Given the description of an element on the screen output the (x, y) to click on. 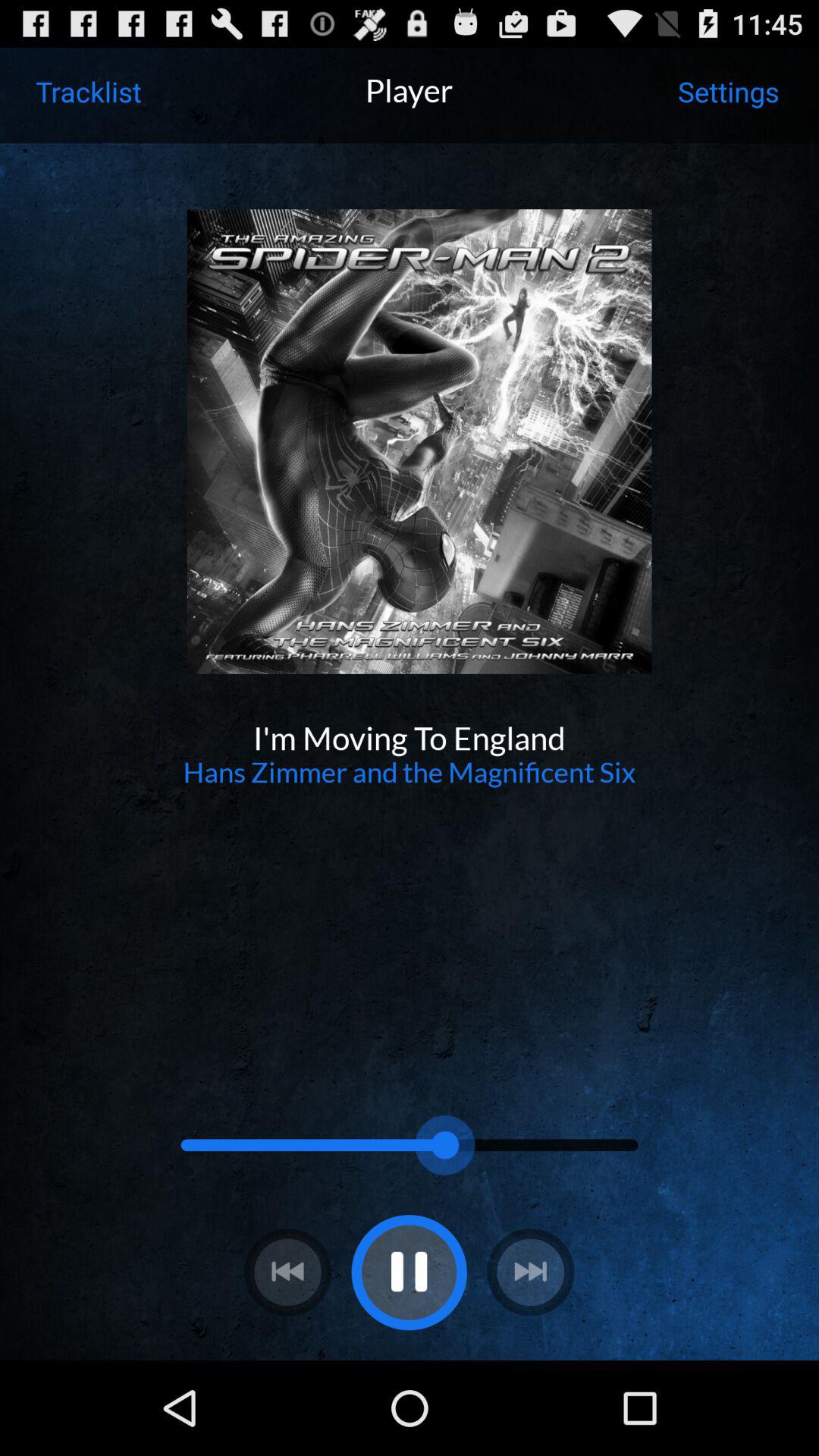
go to next (530, 1272)
